Given the description of an element on the screen output the (x, y) to click on. 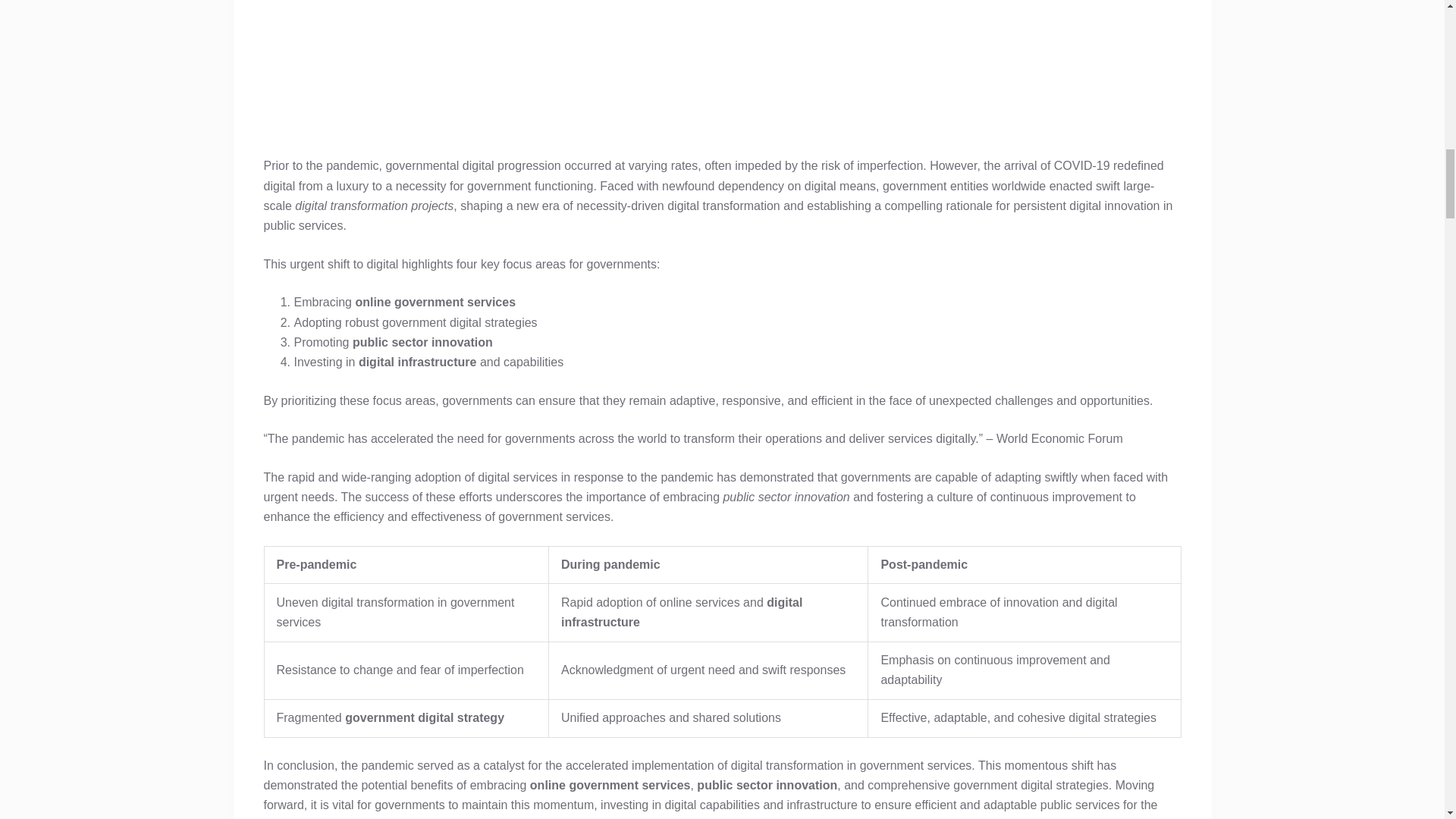
Digital Transformation for Government (721, 69)
